Given the description of an element on the screen output the (x, y) to click on. 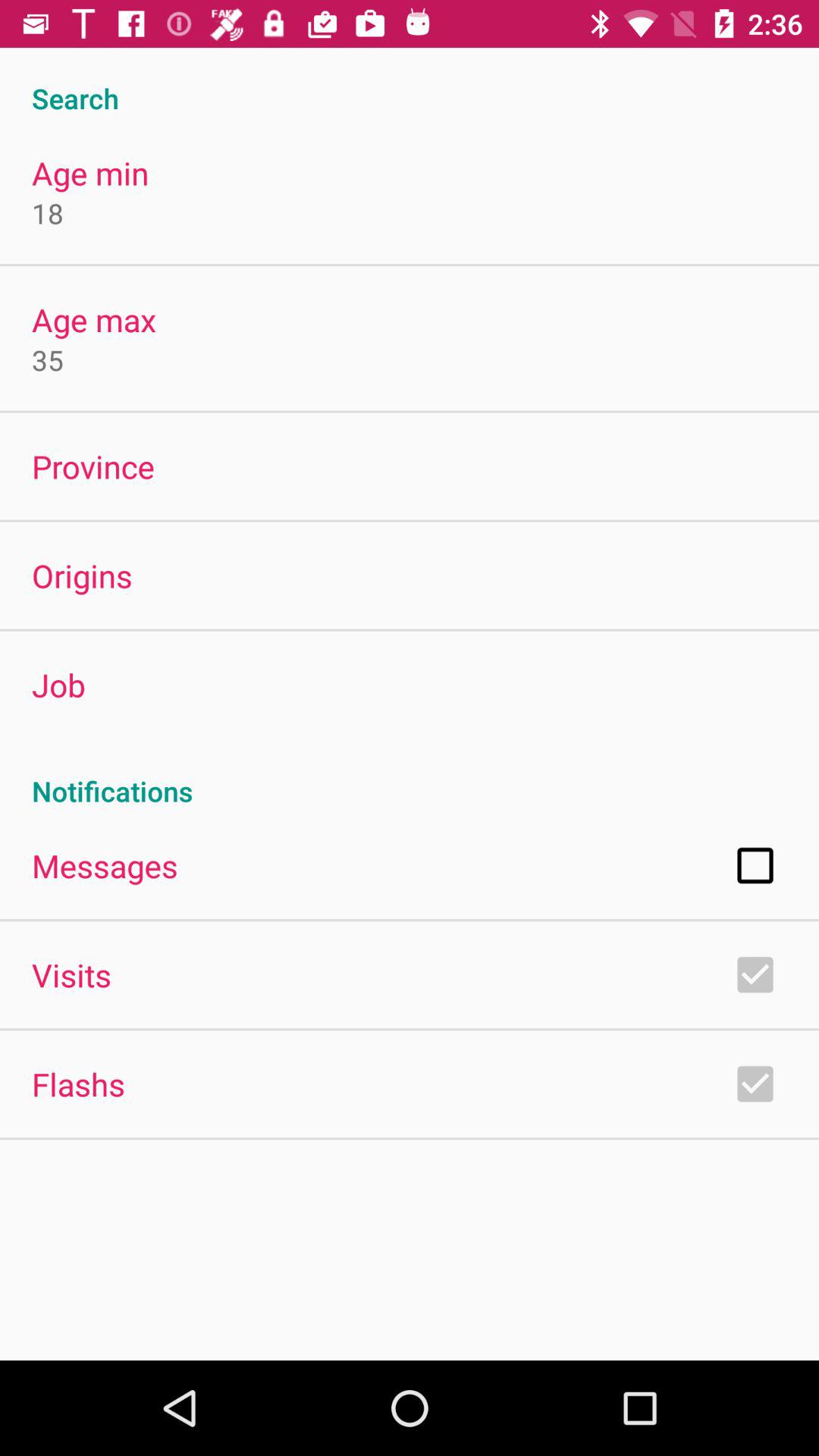
turn off app at the center (409, 774)
